Given the description of an element on the screen output the (x, y) to click on. 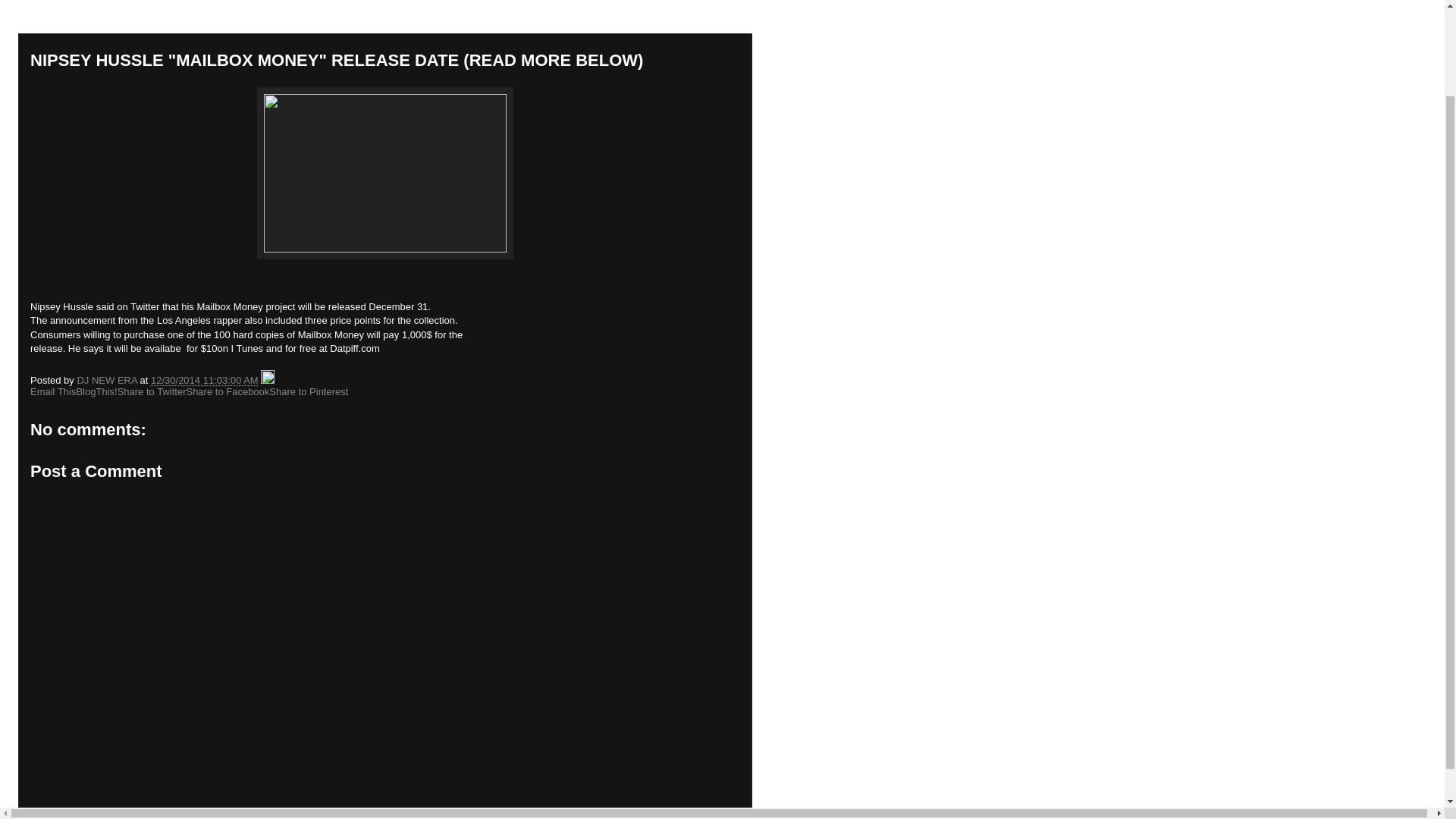
Email This (52, 391)
Edit Post (267, 379)
author profile (108, 379)
Share to Pinterest (308, 391)
permanent link (205, 379)
BlogThis! (95, 391)
Share to Twitter (151, 391)
BlogThis! (95, 391)
Share to Facebook (227, 391)
Share to Twitter (151, 391)
